Given the description of an element on the screen output the (x, y) to click on. 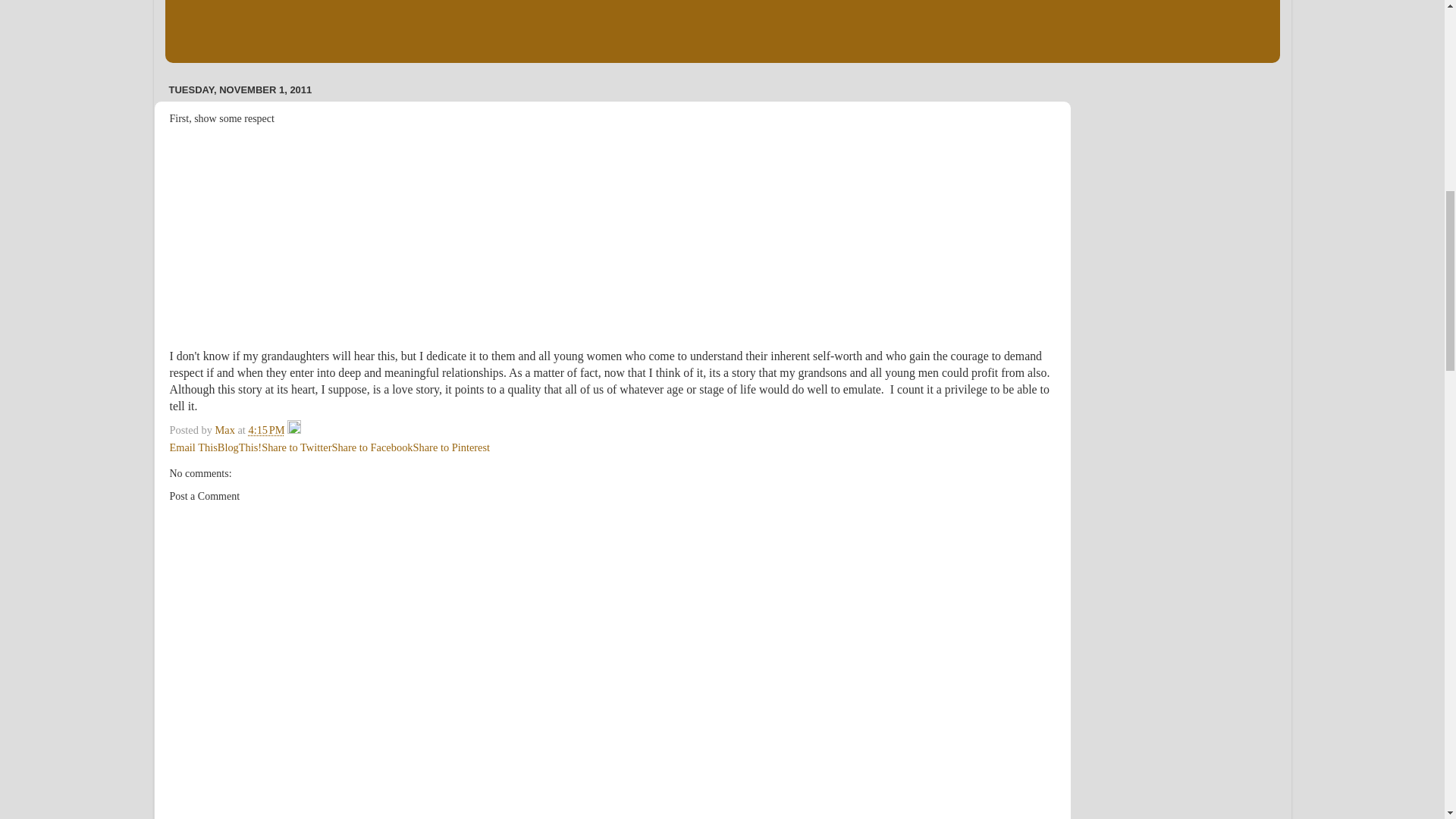
Share to Twitter (296, 447)
BlogThis! (239, 447)
Share to Pinterest (451, 447)
BlogThis! (239, 447)
Edit Post (293, 429)
Max (225, 429)
permanent link (265, 429)
Share to Facebook (371, 447)
author profile (225, 429)
Email This (193, 447)
Share to Twitter (296, 447)
Share to Facebook (371, 447)
Share to Pinterest (451, 447)
Email This (193, 447)
